Given the description of an element on the screen output the (x, y) to click on. 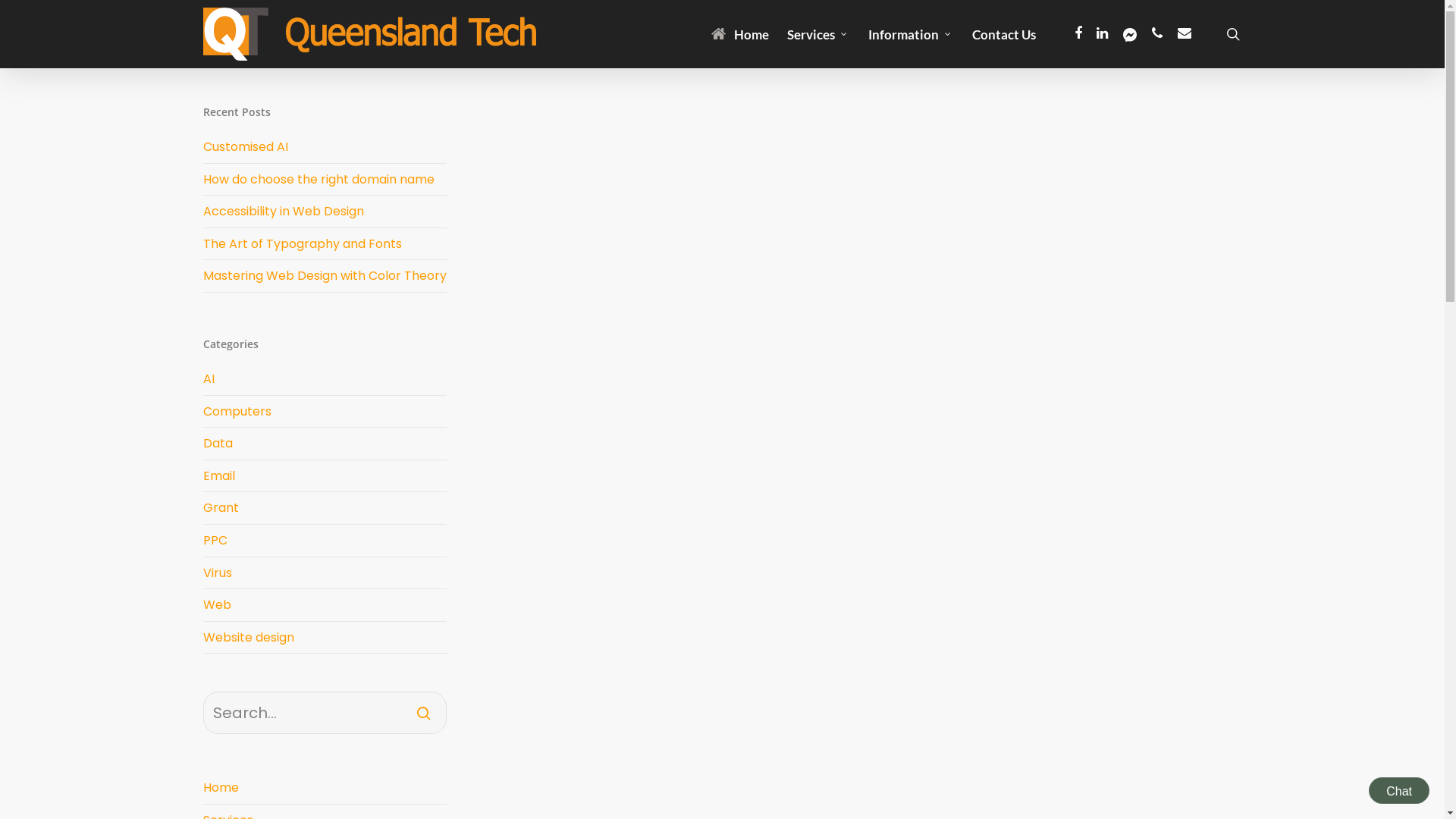
Accessibility in Web Design Element type: text (283, 210)
Home Element type: text (740, 33)
Email Element type: text (325, 476)
Chat Element type: text (1398, 790)
Search for: Element type: hover (325, 712)
Web Element type: text (325, 605)
Website design Element type: text (325, 637)
Information Element type: text (910, 33)
How do choose the right domain name Element type: text (318, 179)
queenslandtech.com.au Element type: text (1020, 658)
Virus Element type: text (325, 573)
Grant Element type: text (325, 508)
PPC Element type: text (325, 540)
07 4306 0900 Element type: text (965, 619)
Home Element type: text (325, 787)
messenger Element type: text (1129, 33)
AI Element type: text (325, 382)
search Element type: text (1232, 33)
The Art of Typography and Fonts Element type: text (302, 243)
sales@queenslandtech.com.au Element type: text (1027, 638)
Contact Us Element type: text (1003, 33)
Privacy Policy Element type: text (238, 710)
Customised AI Element type: text (245, 146)
Data Element type: text (325, 443)
Services Element type: text (818, 33)
facebook Element type: text (1077, 33)
Mastering Web Design with Color Theory Element type: text (324, 275)
linkedin Element type: text (1102, 33)
phone Element type: text (1156, 33)
Contact Us Element type: text (948, 707)
Computers Element type: text (325, 411)
email Element type: text (1184, 33)
